Given the description of an element on the screen output the (x, y) to click on. 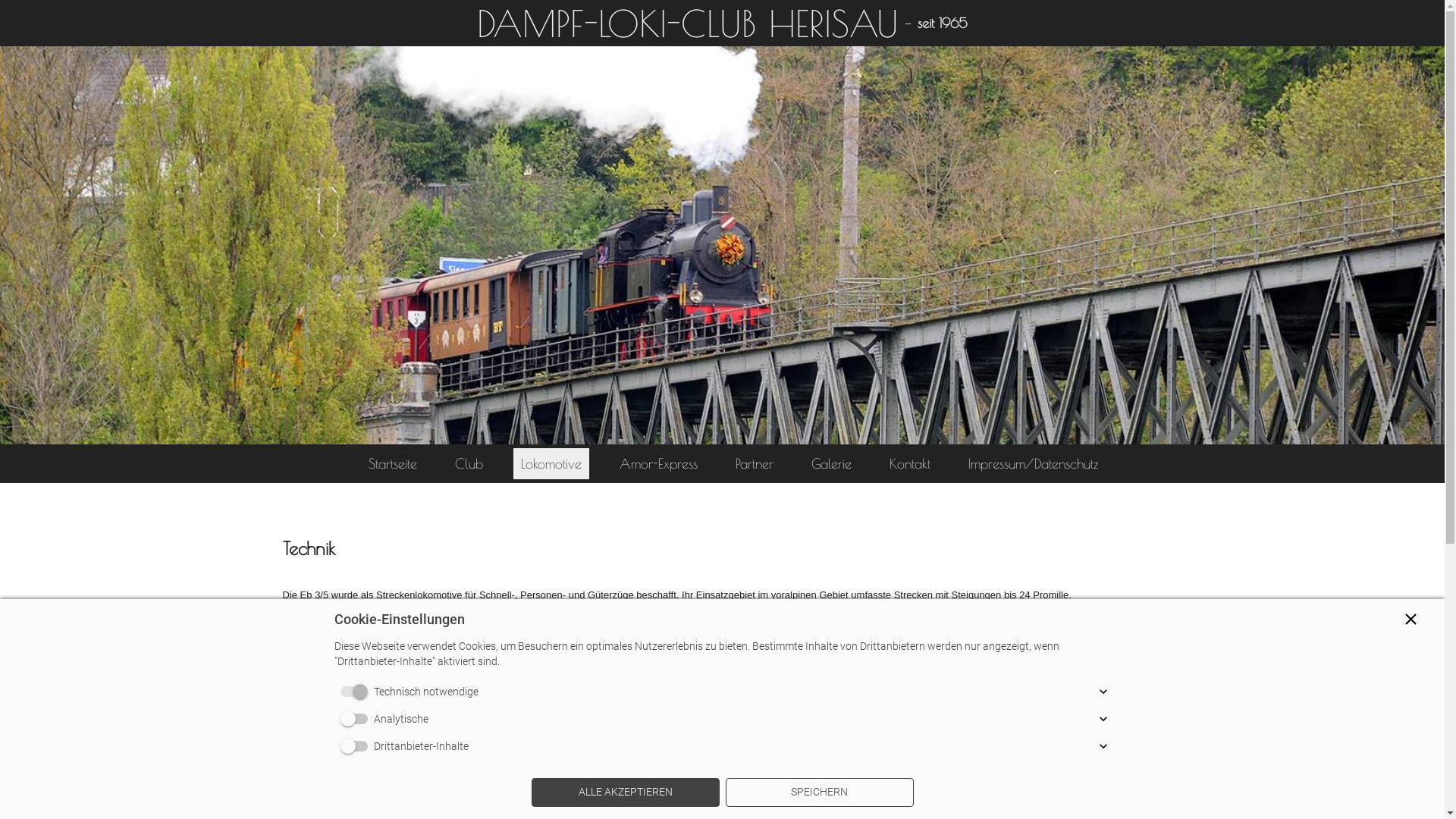
ALLE AKZEPTIEREN Element type: text (624, 792)
Impressum/Datenschutz Element type: text (1033, 463)
Club Element type: text (469, 463)
Startseite Element type: text (392, 463)
Galerie Element type: text (831, 463)
SPEICHERN Element type: text (818, 792)
Amor-Express Element type: text (658, 463)
Partner Element type: text (754, 463)
Kontakt Element type: text (909, 463)
Lokomotive Element type: text (550, 463)
